Given the description of an element on the screen output the (x, y) to click on. 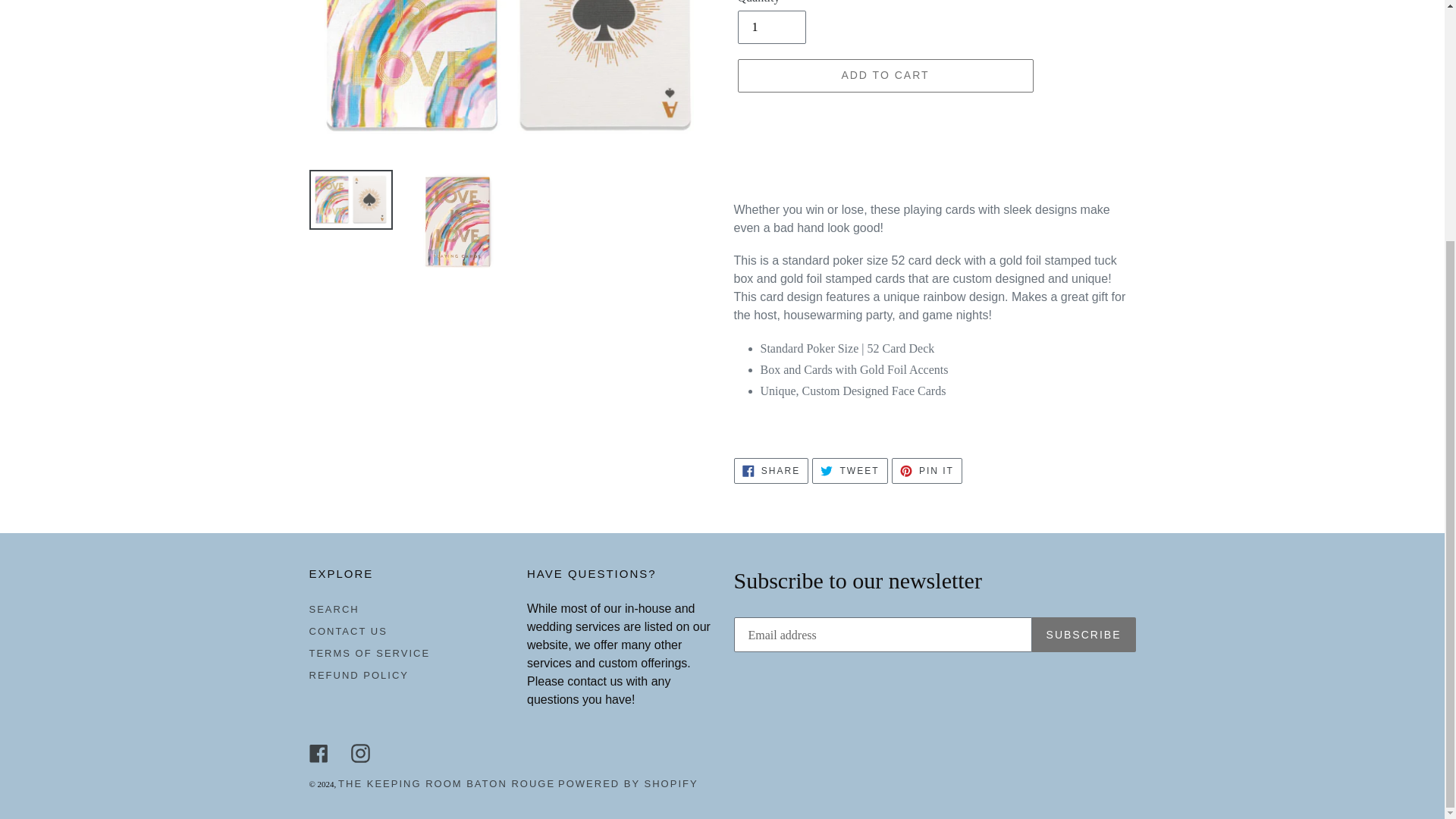
1 (770, 27)
